Given the description of an element on the screen output the (x, y) to click on. 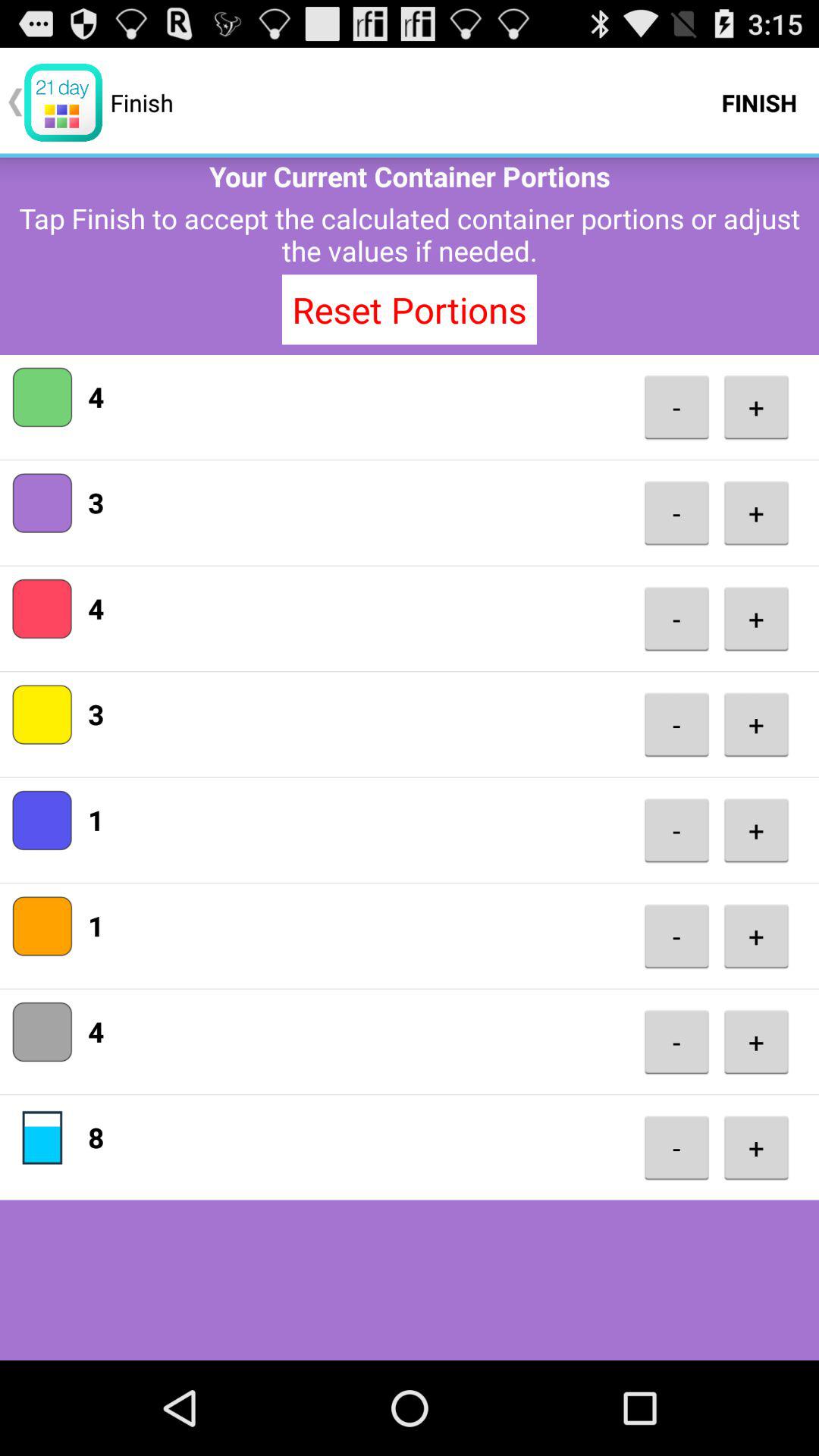
select icon next to the 4 icon (676, 407)
